Given the description of an element on the screen output the (x, y) to click on. 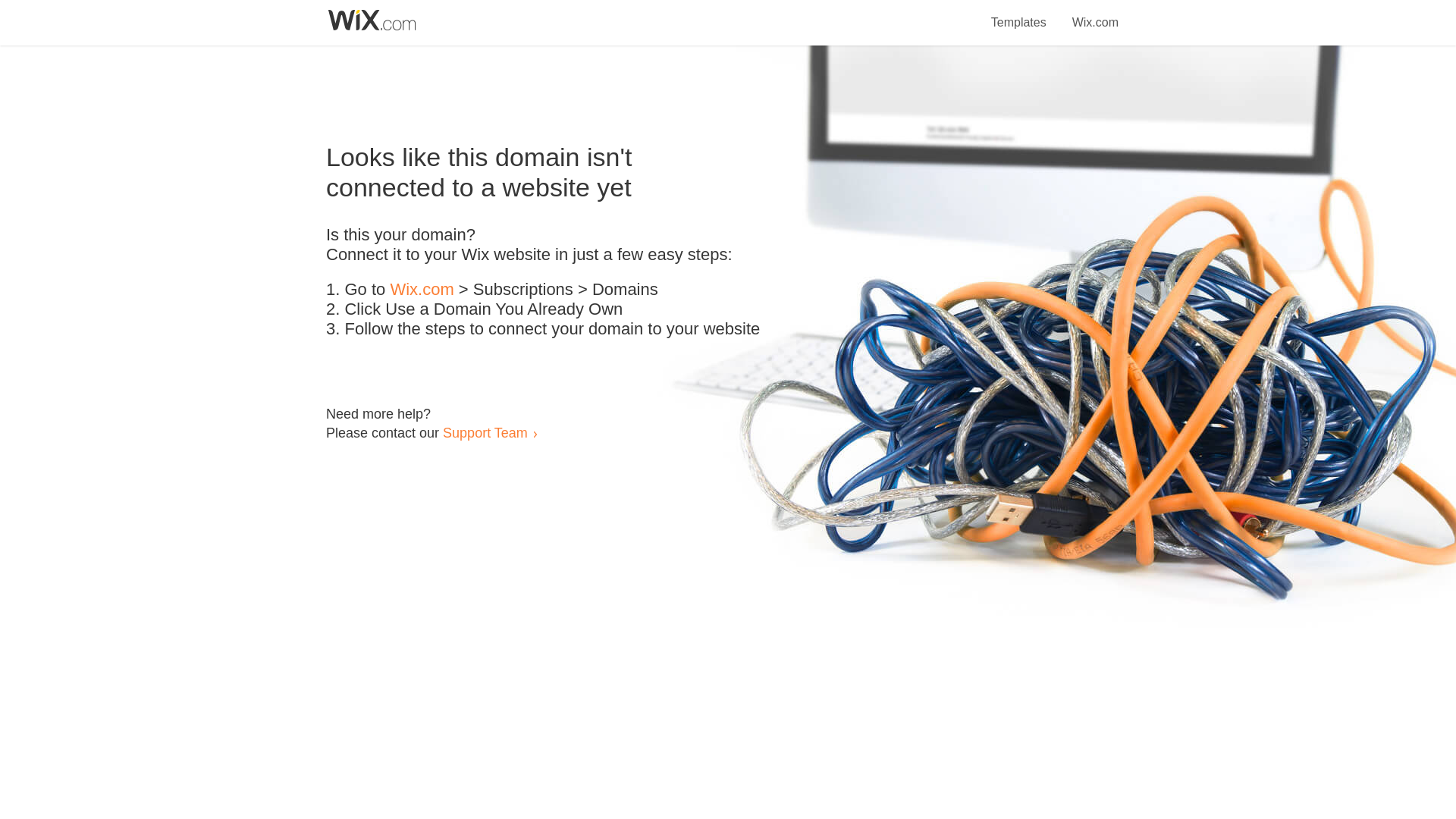
Wix.com (421, 289)
Templates (1018, 14)
Wix.com (1095, 14)
Support Team (484, 432)
